Given the description of an element on the screen output the (x, y) to click on. 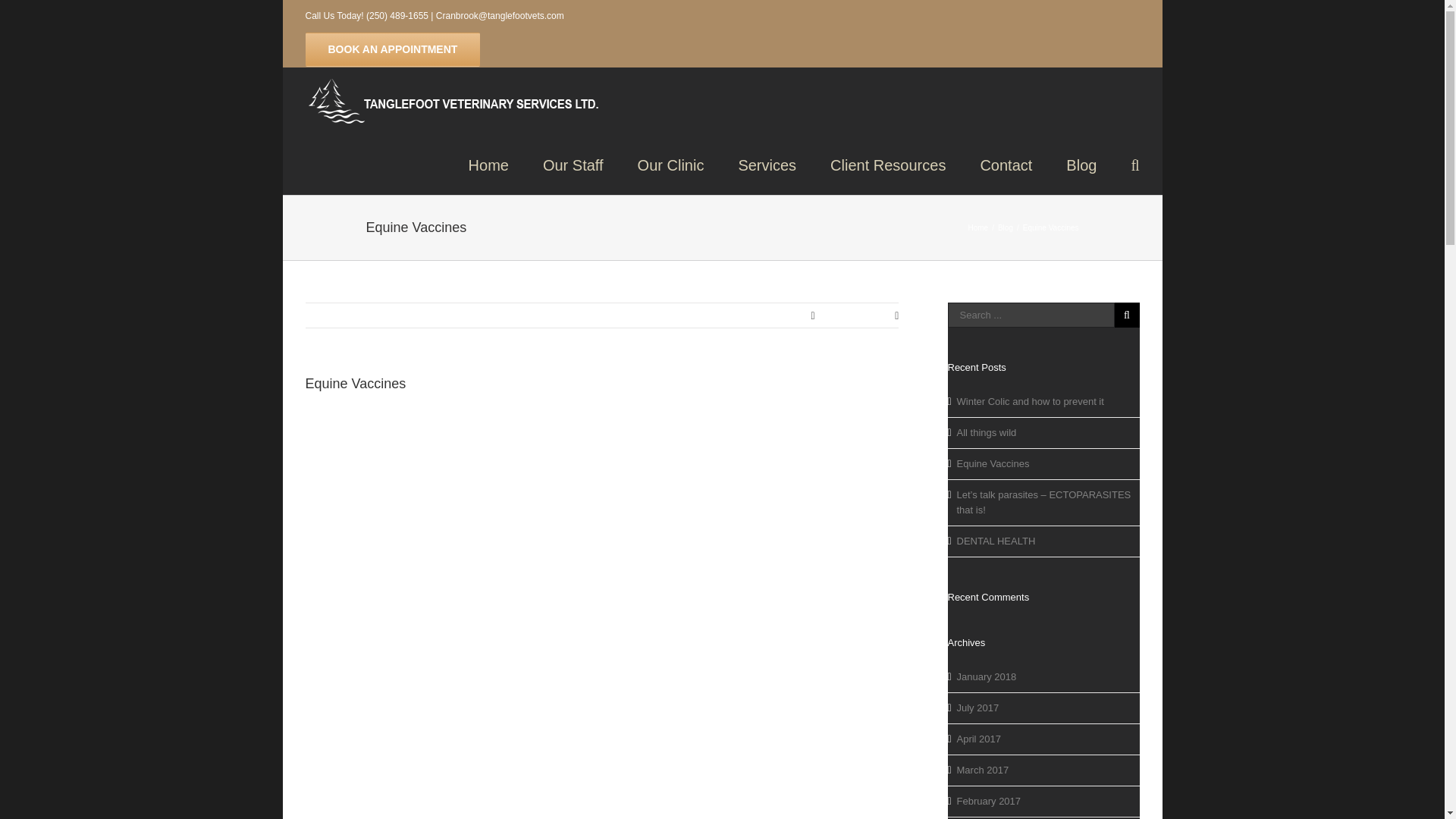
Client Resources (886, 164)
Our Staff (573, 164)
Our Clinic (670, 164)
BOOK AN APPOINTMENT (392, 49)
Services (767, 164)
